Given the description of an element on the screen output the (x, y) to click on. 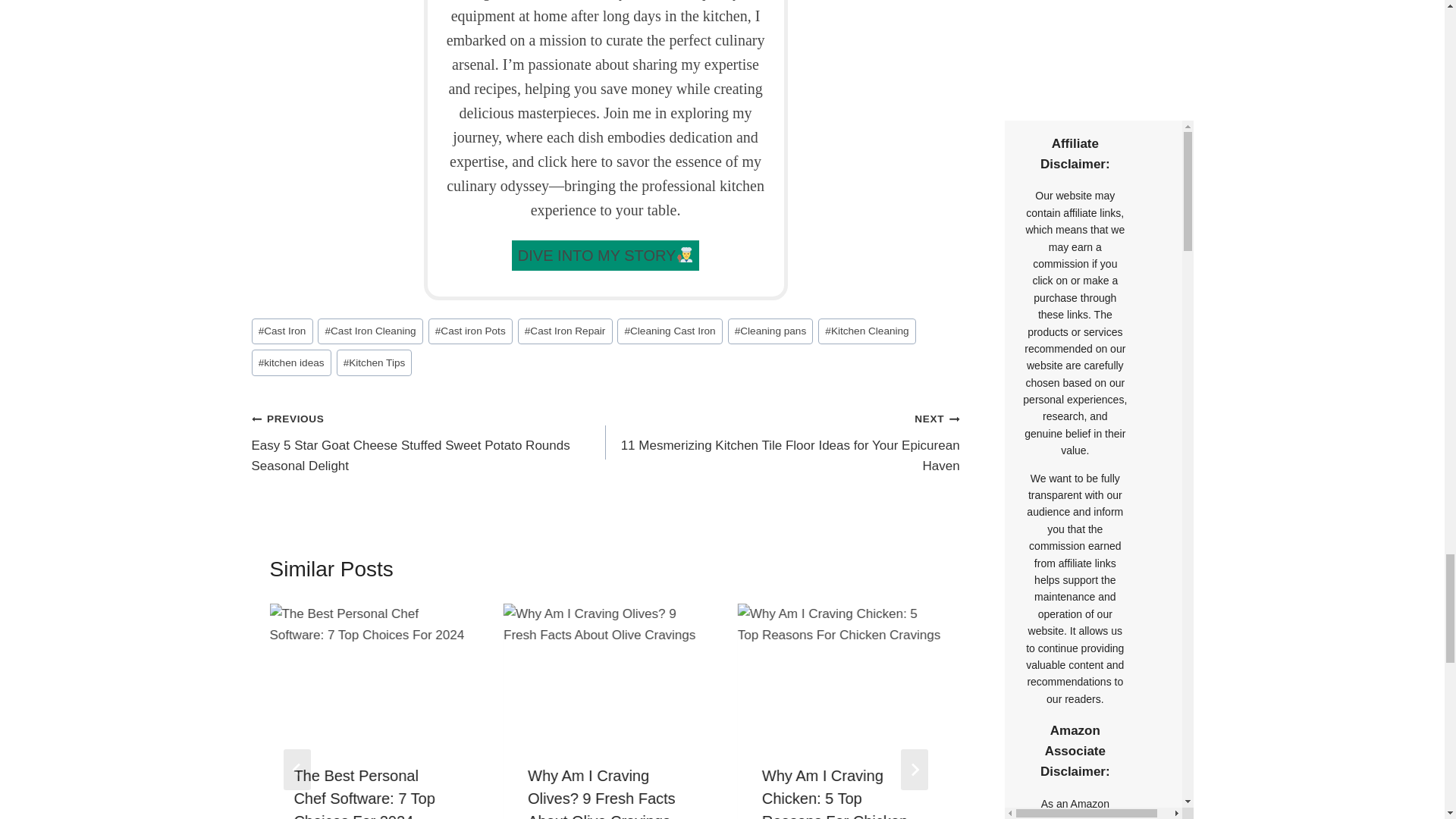
kitchen ideas (291, 362)
Cast Iron Cleaning (369, 331)
Kitchen Cleaning (866, 331)
Cleaning pans (770, 331)
Kitchen Tips (374, 362)
Cast Iron (282, 331)
Email Address (1092, 43)
Cast iron Pots (470, 331)
Cast Iron Repair (565, 331)
Cleaning Cast Iron (669, 331)
